Given the description of an element on the screen output the (x, y) to click on. 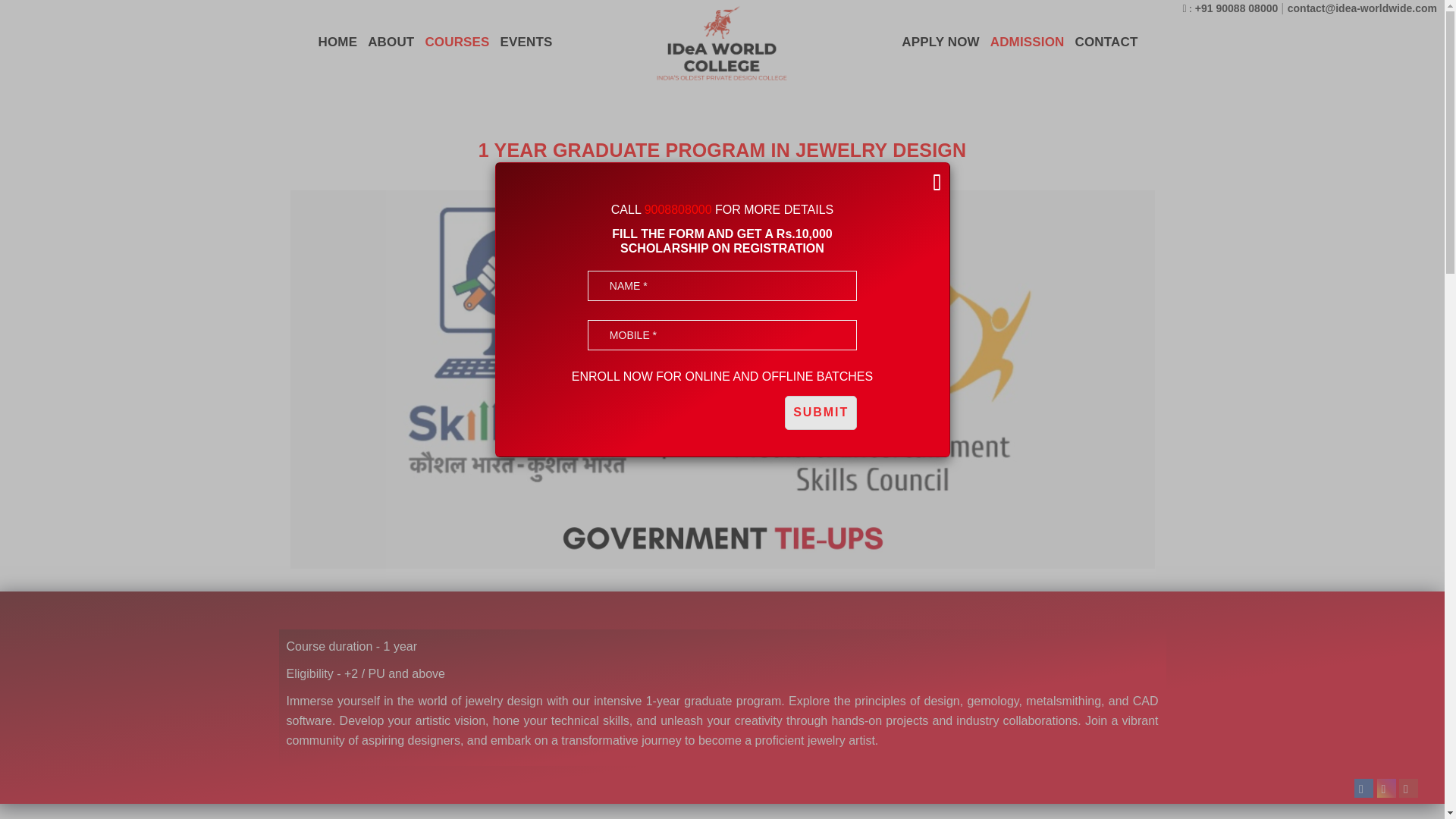
APPLY NOW (940, 42)
ADMISSION (1027, 42)
COURSES (457, 42)
